Given the description of an element on the screen output the (x, y) to click on. 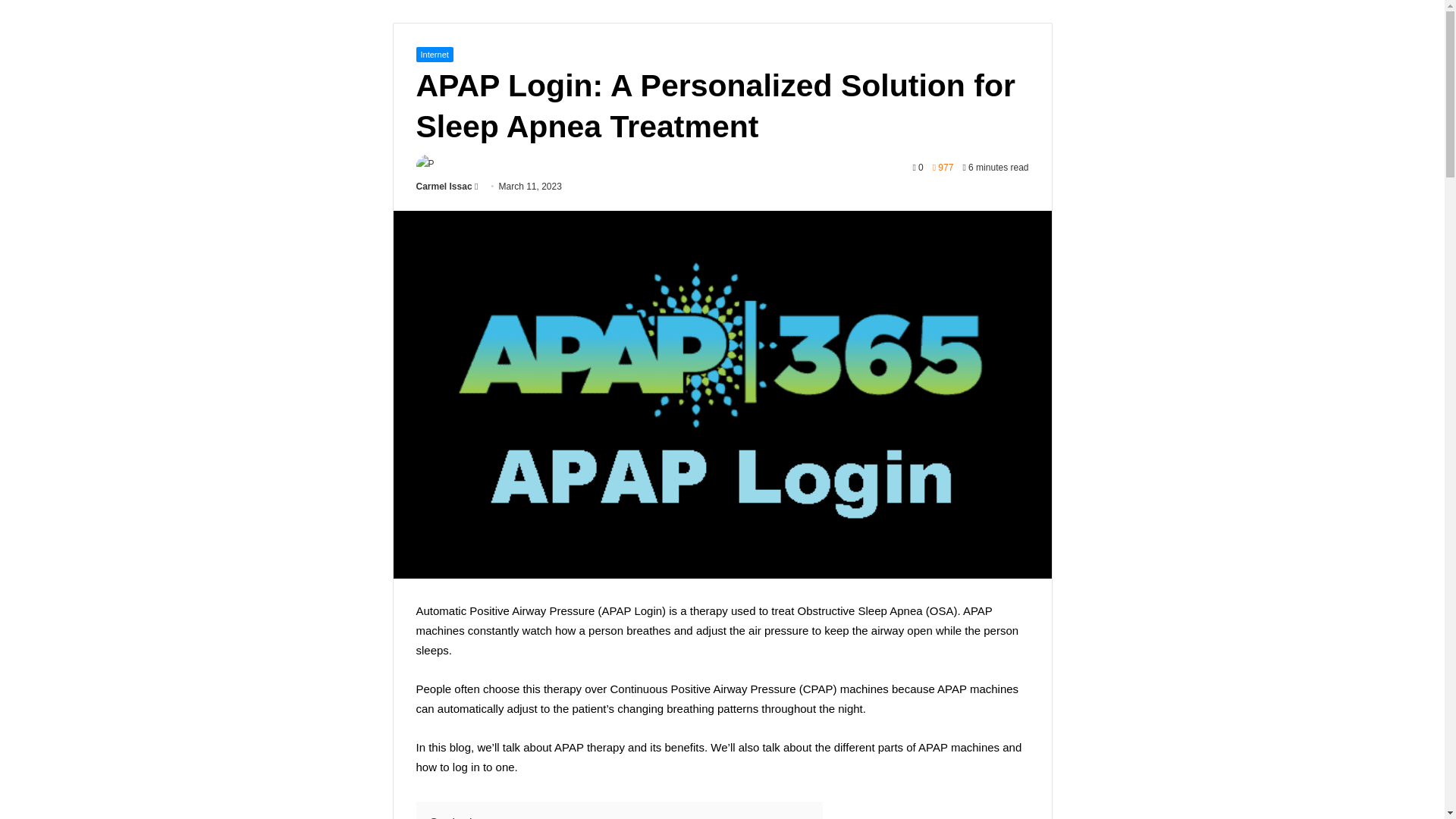
Carmel Issac (442, 185)
Internet (433, 54)
Carmel Issac (442, 185)
